Given the description of an element on the screen output the (x, y) to click on. 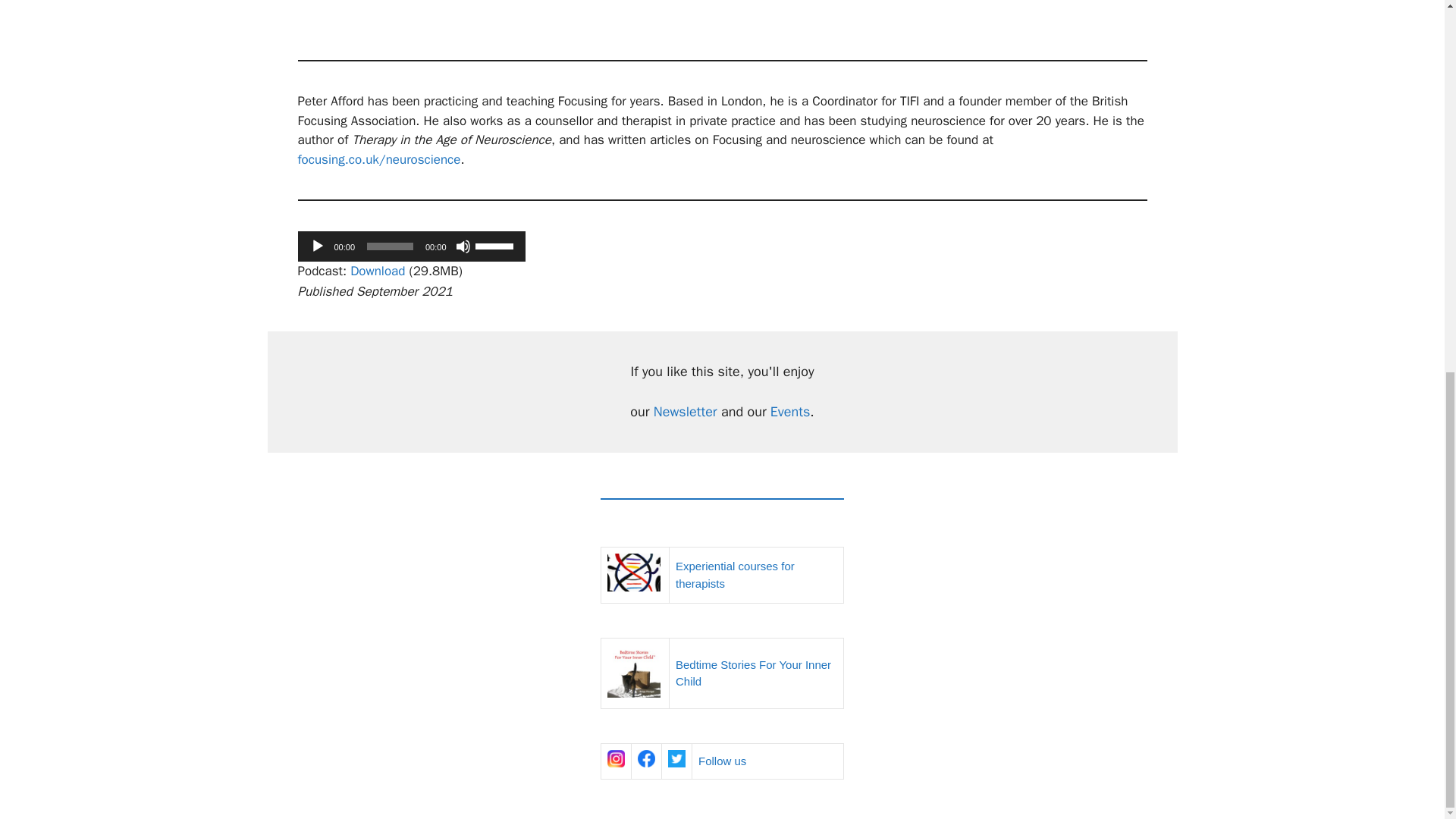
Afford.mov (722, 14)
Play (316, 246)
Download (377, 270)
Mute (462, 246)
Download (377, 270)
